Given the description of an element on the screen output the (x, y) to click on. 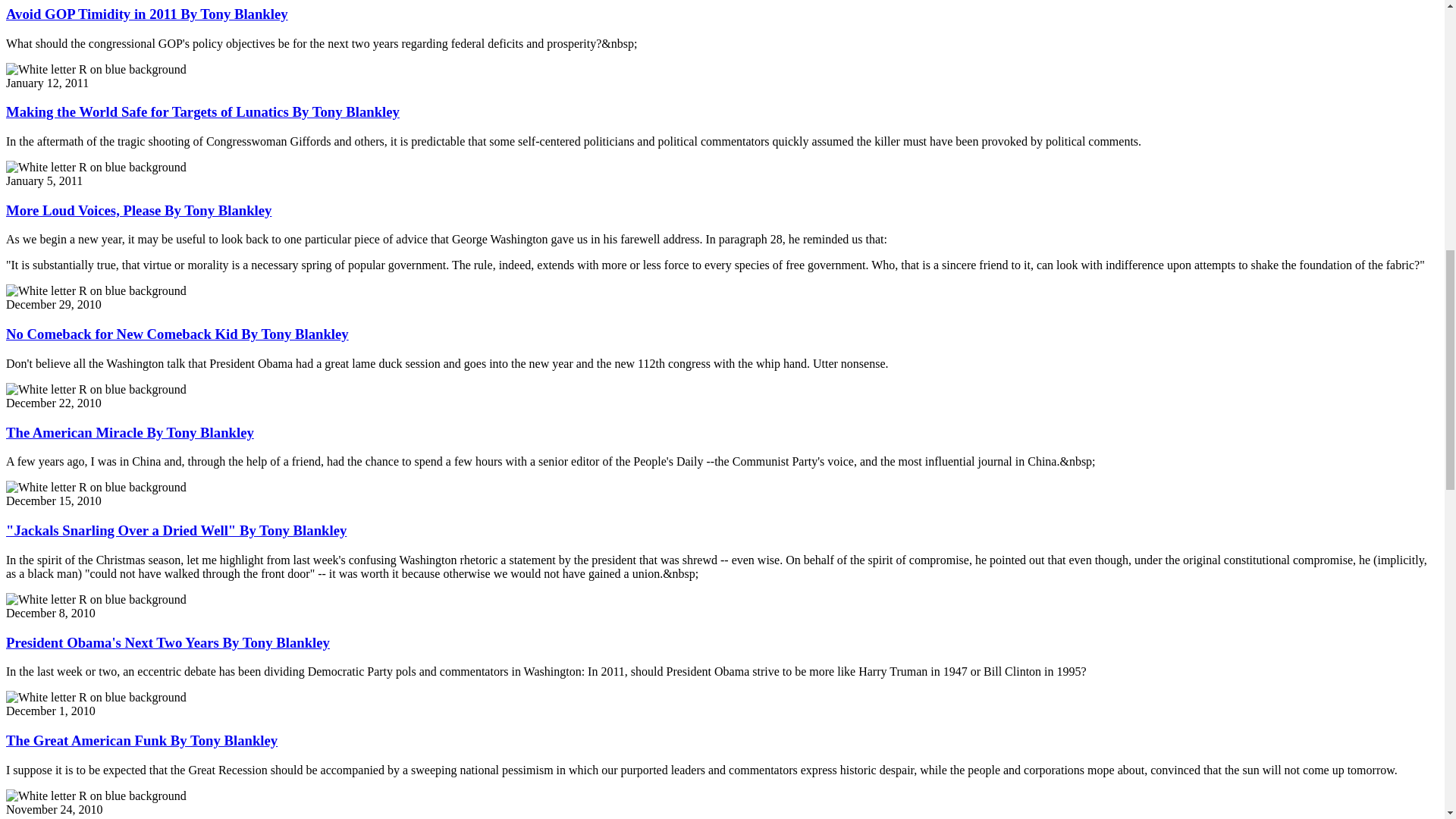
The Great American Funk By Tony Blankley (141, 740)
Avoid GOP Timidity in 2011 By Tony Blankley (146, 13)
No Comeback for New Comeback Kid By Tony Blankley (177, 333)
The American Miracle By Tony Blankley (129, 432)
President Obama's Next Two Years By Tony Blankley (167, 641)
More Loud Voices, Please By Tony Blankley (137, 210)
"Jackals Snarling Over a Dried Well" By Tony Blankley (175, 530)
